Given the description of an element on the screen output the (x, y) to click on. 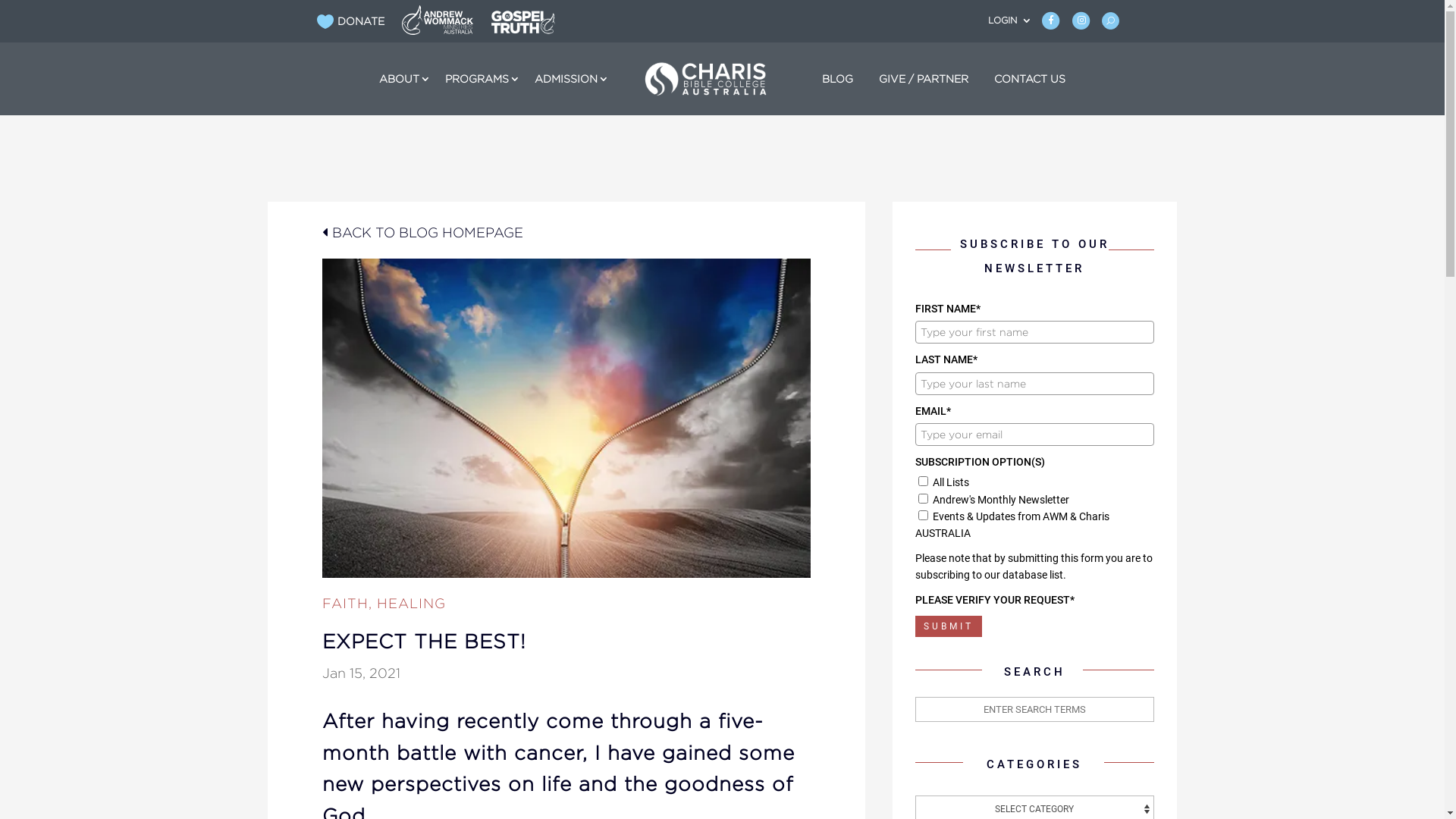
SUBMIT Element type: text (947, 626)
LOGIN Element type: text (1010, 25)
ADMISSION Element type: text (565, 78)
Instagram Element type: hover (1081, 23)
ajybl-zcs7j Element type: hover (522, 22)
Expect-the-Best Element type: hover (565, 417)
FAITH Element type: text (344, 603)
Search Element type: text (22, 7)
Facebook Element type: hover (1050, 23)
CONTACT US Element type: text (1029, 78)
awm-logo-svg Element type: hover (437, 19)
ABOUT Element type: text (398, 78)
GIVE / PARTNER Element type: text (923, 78)
HEALING Element type: text (410, 603)
PROGRAMS Element type: text (476, 78)
BLOG Element type: text (837, 78)
